Given the description of an element on the screen output the (x, y) to click on. 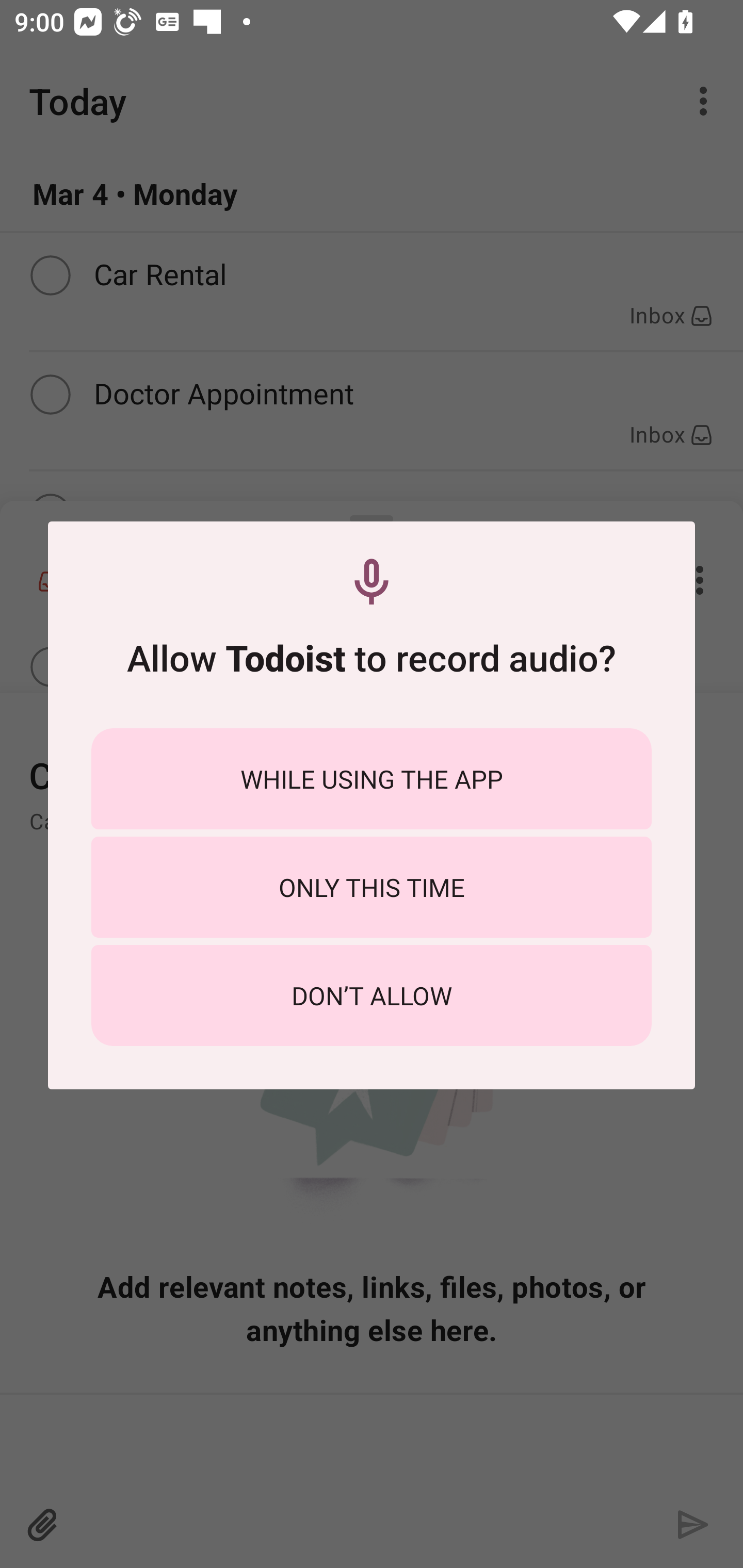
WHILE USING THE APP (371, 778)
ONLY THIS TIME (371, 887)
DON’T ALLOW (371, 995)
